Given the description of an element on the screen output the (x, y) to click on. 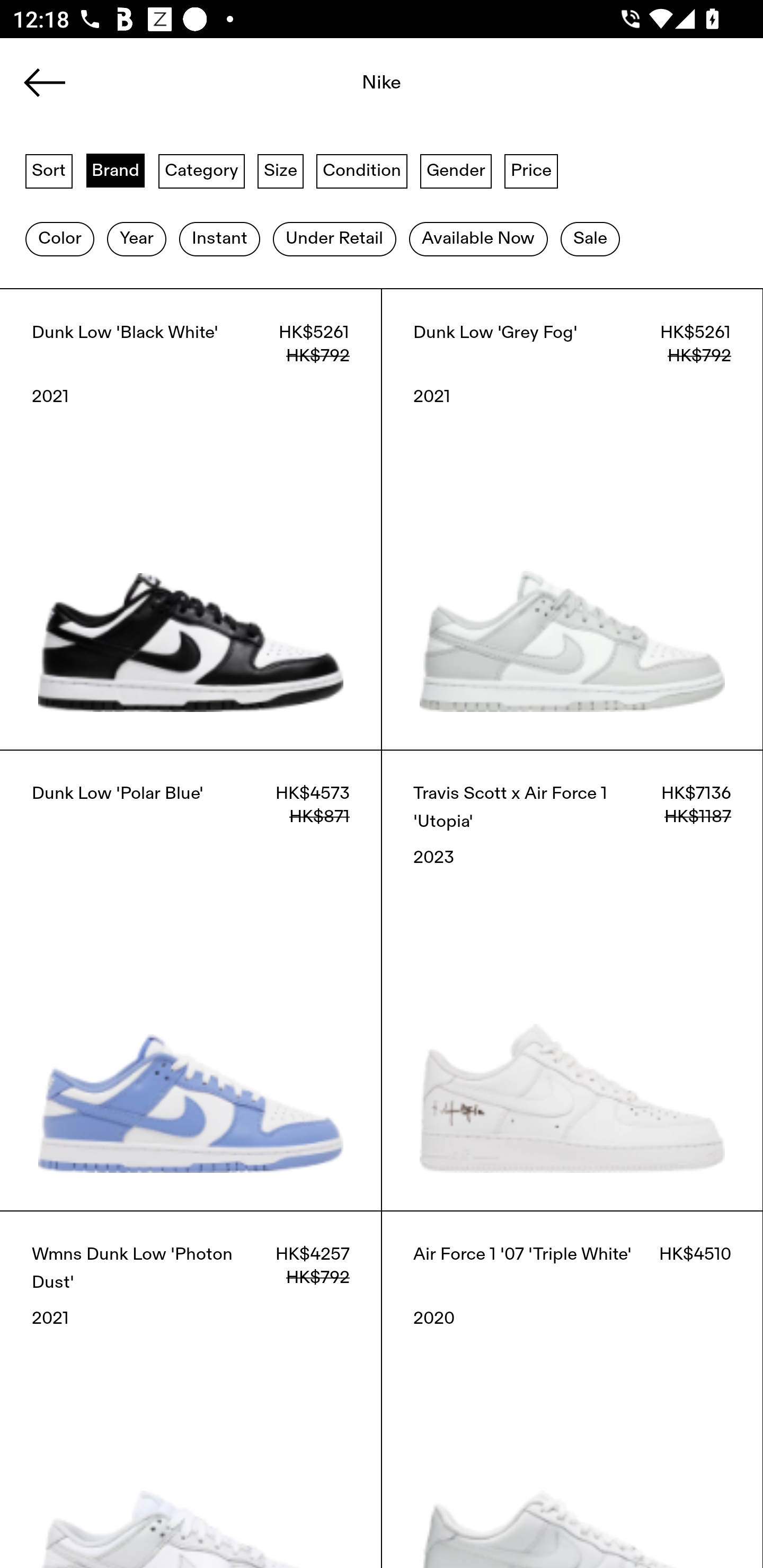
Sort (48, 170)
Brand (115, 170)
Category (201, 170)
Size (280, 170)
Condition (361, 170)
Gender (455, 170)
Price (530, 170)
Color (59, 239)
Year (136, 239)
Instant (219, 239)
Under Retail (334, 239)
Available Now (477, 239)
Sale (589, 239)
Dunk Low 'Black White' HK$5261 HK$792 2021 (190, 518)
Dunk Low 'Grey Fog' HK$5261 HK$792 2021 (572, 518)
Dunk Low 'Polar Blue' HK$4573 HK$871 (190, 979)
Wmns Dunk Low 'Photon Dust' HK$4257 HK$792 2021 (190, 1389)
Air Force 1 '07 'Triple White' HK$4510 2020 (572, 1389)
